Given the description of an element on the screen output the (x, y) to click on. 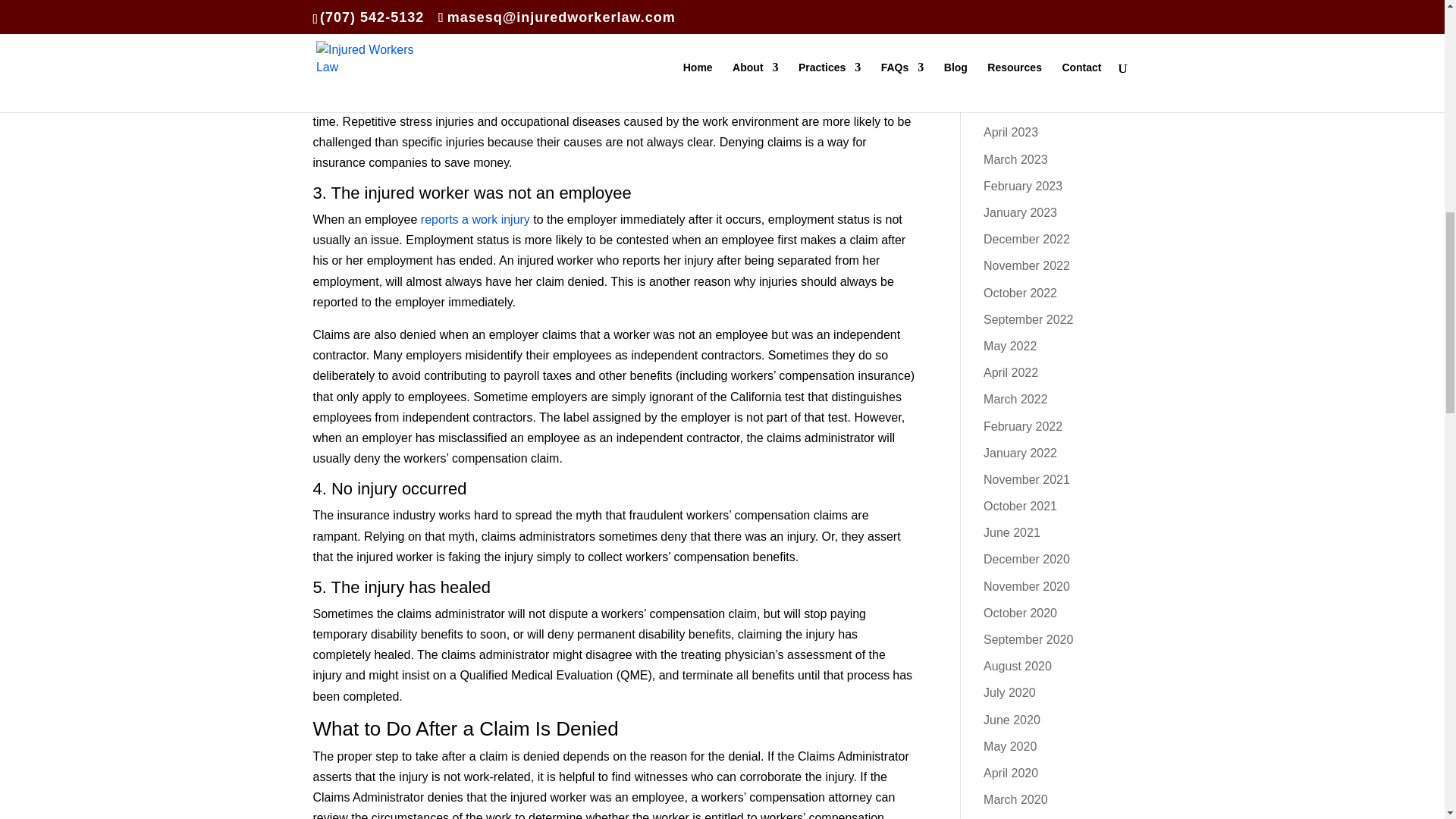
September 2023 (1028, 25)
October 2023 (1020, 2)
August 2023 (1017, 51)
reports a work injury (474, 219)
